Given the description of an element on the screen output the (x, y) to click on. 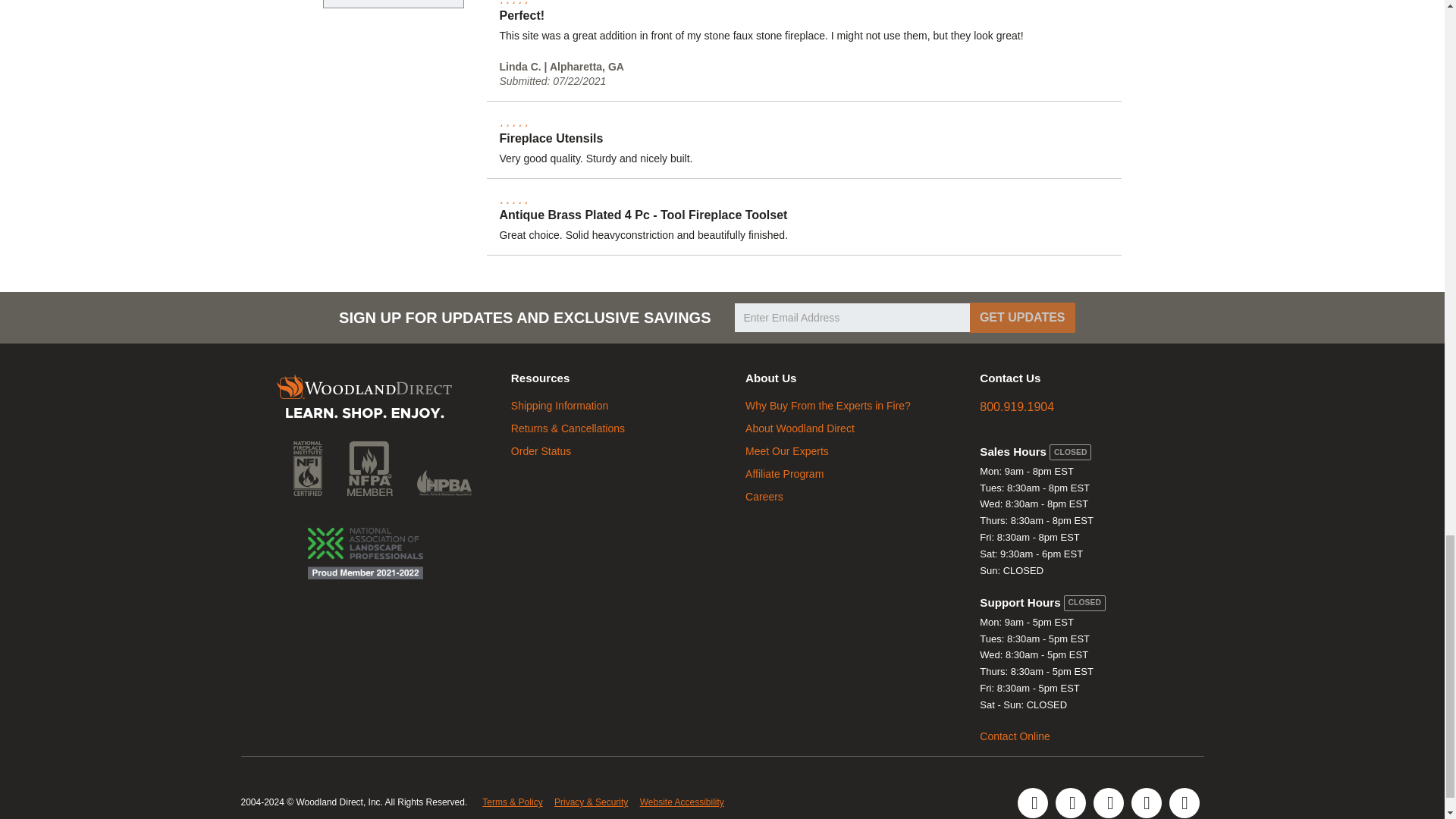
Go to Shipping Information (559, 405)
Go Home (363, 398)
Go to Why Buy From the Experts in Fire (828, 405)
Go to Affiliate Program (784, 473)
Go to Contact Online (1014, 736)
Go to About Woodland Direct (799, 428)
Call 800.919.1904 (1016, 406)
Go to Order Status (540, 451)
Go to Meet Our Experts (786, 451)
Go to Careers (764, 496)
